Given the description of an element on the screen output the (x, y) to click on. 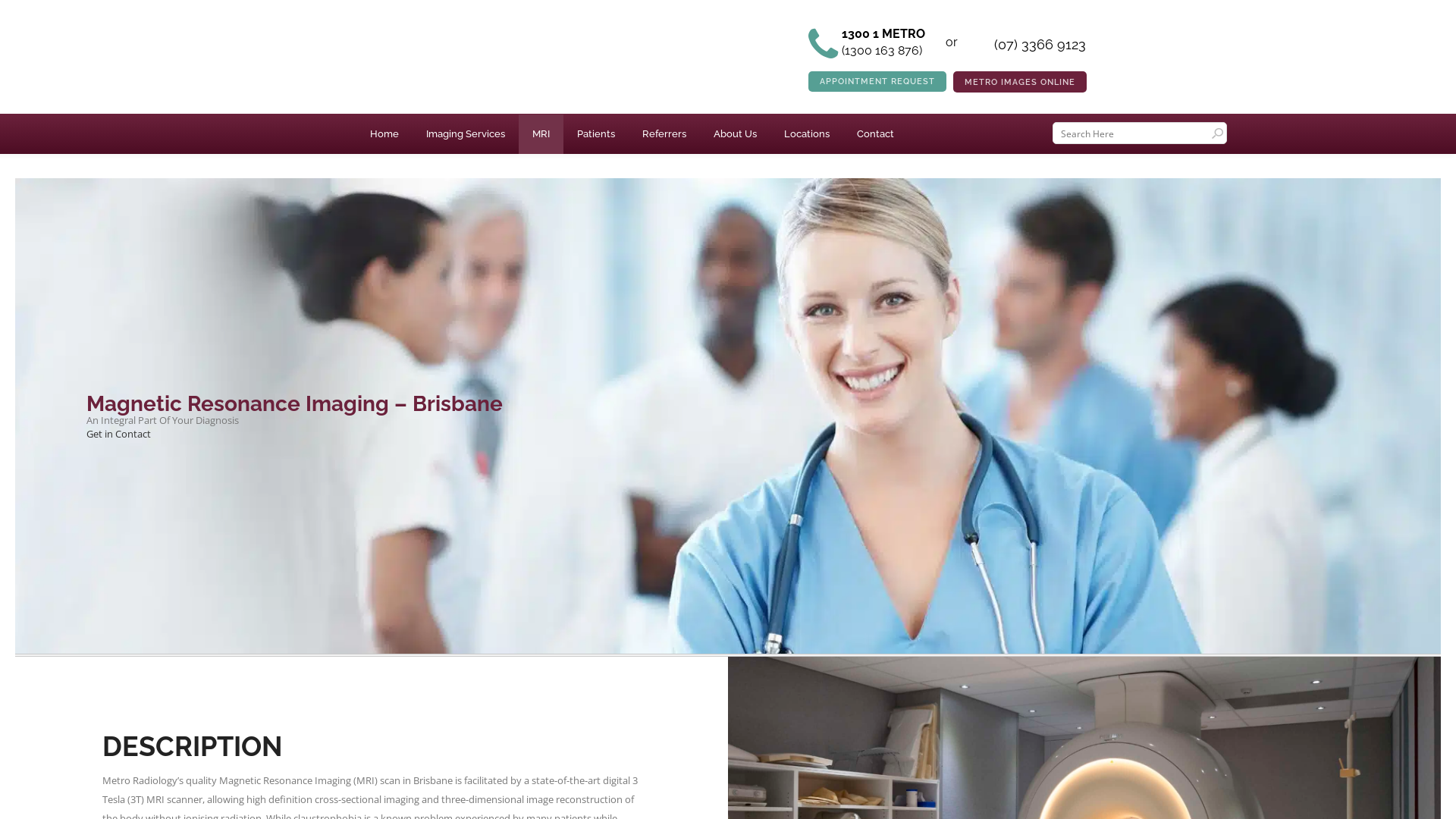
Home Element type: text (384, 133)
Locations Element type: text (806, 133)
Imaging Services Element type: text (465, 133)
METRO IMAGES ONLINE Element type: text (1019, 81)
Contact Element type: text (875, 133)
APPOINTMENT REQUEST Element type: text (877, 81)
About Us Element type: text (734, 133)
1300 1 METRO
(1300 163 876) Element type: text (892, 50)
Patients Element type: text (595, 133)
MRI Element type: text (540, 133)
(07) 3366 9123 Element type: text (1039, 50)
Get in Contact Element type: text (118, 433)
Referrers Element type: text (663, 133)
